Given the description of an element on the screen output the (x, y) to click on. 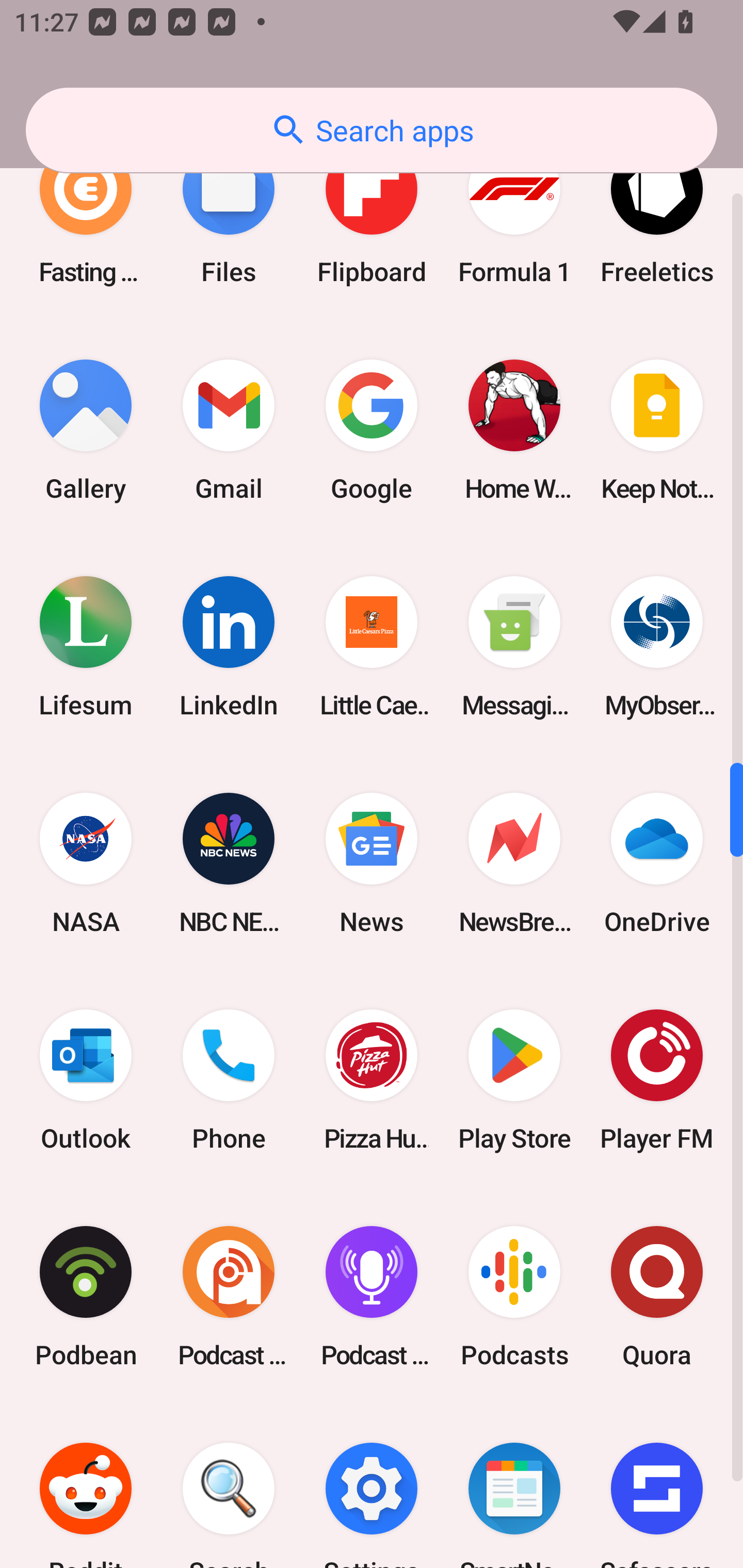
  Search apps (371, 130)
Fasting Coach (85, 213)
Files (228, 213)
Flipboard (371, 213)
Formula 1 (514, 213)
Freeletics (656, 213)
Gallery (85, 429)
Gmail (228, 429)
Google (371, 429)
Home Workout (514, 429)
Keep Notes (656, 429)
Lifesum (85, 646)
LinkedIn (228, 646)
Little Caesars Pizza (371, 646)
Messaging (514, 646)
MyObservatory (656, 646)
NASA (85, 863)
NBC NEWS (228, 863)
News (371, 863)
NewsBreak (514, 863)
OneDrive (656, 863)
Outlook (85, 1080)
Phone (228, 1080)
Pizza Hut HK & Macau (371, 1080)
Play Store (514, 1080)
Player FM (656, 1080)
Podbean (85, 1296)
Podcast Addict (228, 1296)
Podcast Player (371, 1296)
Podcasts (514, 1296)
Quora (656, 1296)
Reddit (85, 1486)
Search (228, 1486)
Settings (371, 1486)
SmartNews (514, 1486)
Sofascore (656, 1486)
